Given the description of an element on the screen output the (x, y) to click on. 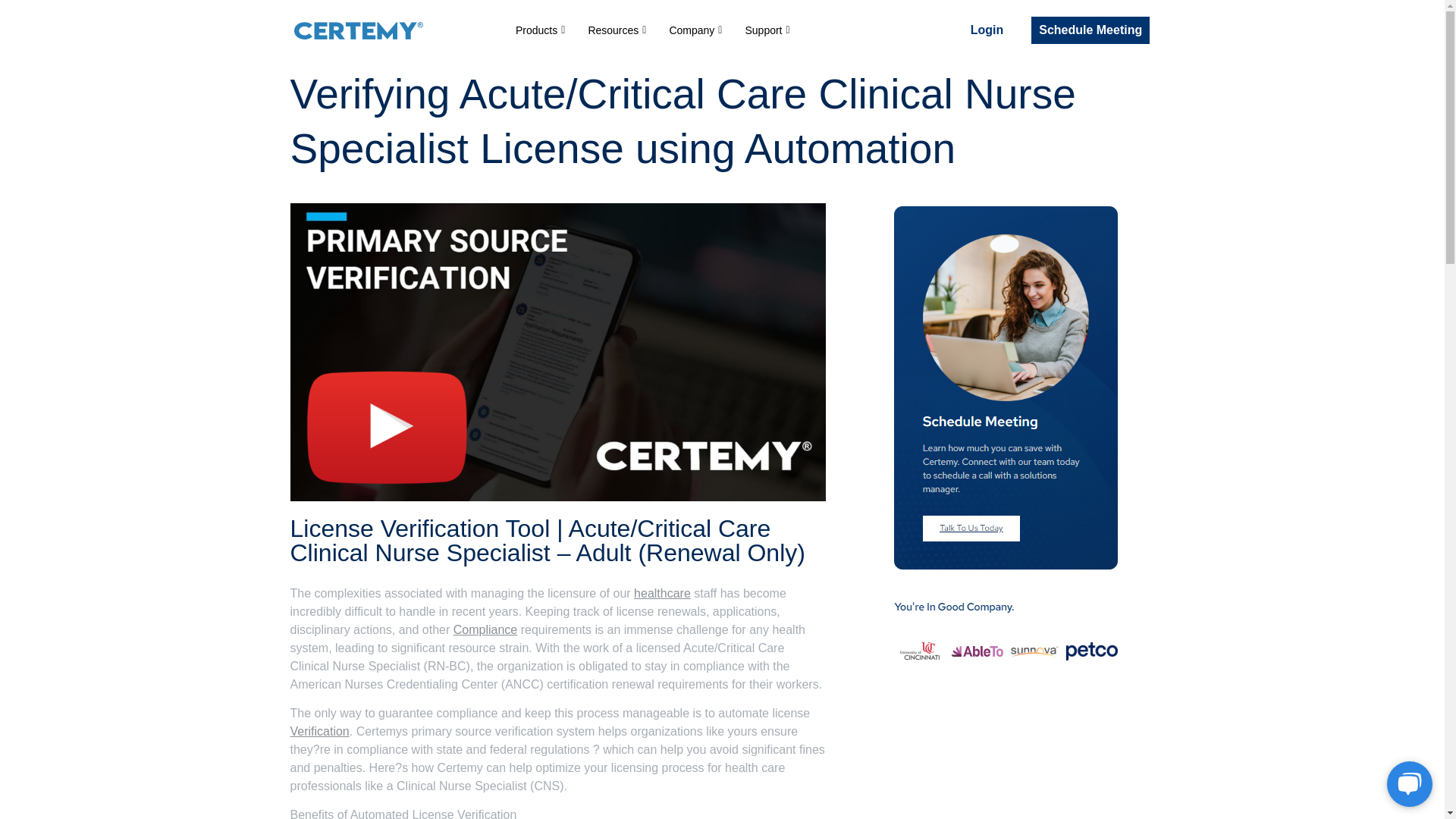
healthcare (661, 593)
Resources (617, 30)
Support (766, 30)
Login (986, 30)
Schedule Meeting (1090, 30)
Compliance (484, 629)
Company (695, 30)
Healthcare (661, 593)
Products (539, 30)
Verification (319, 730)
